Given the description of an element on the screen output the (x, y) to click on. 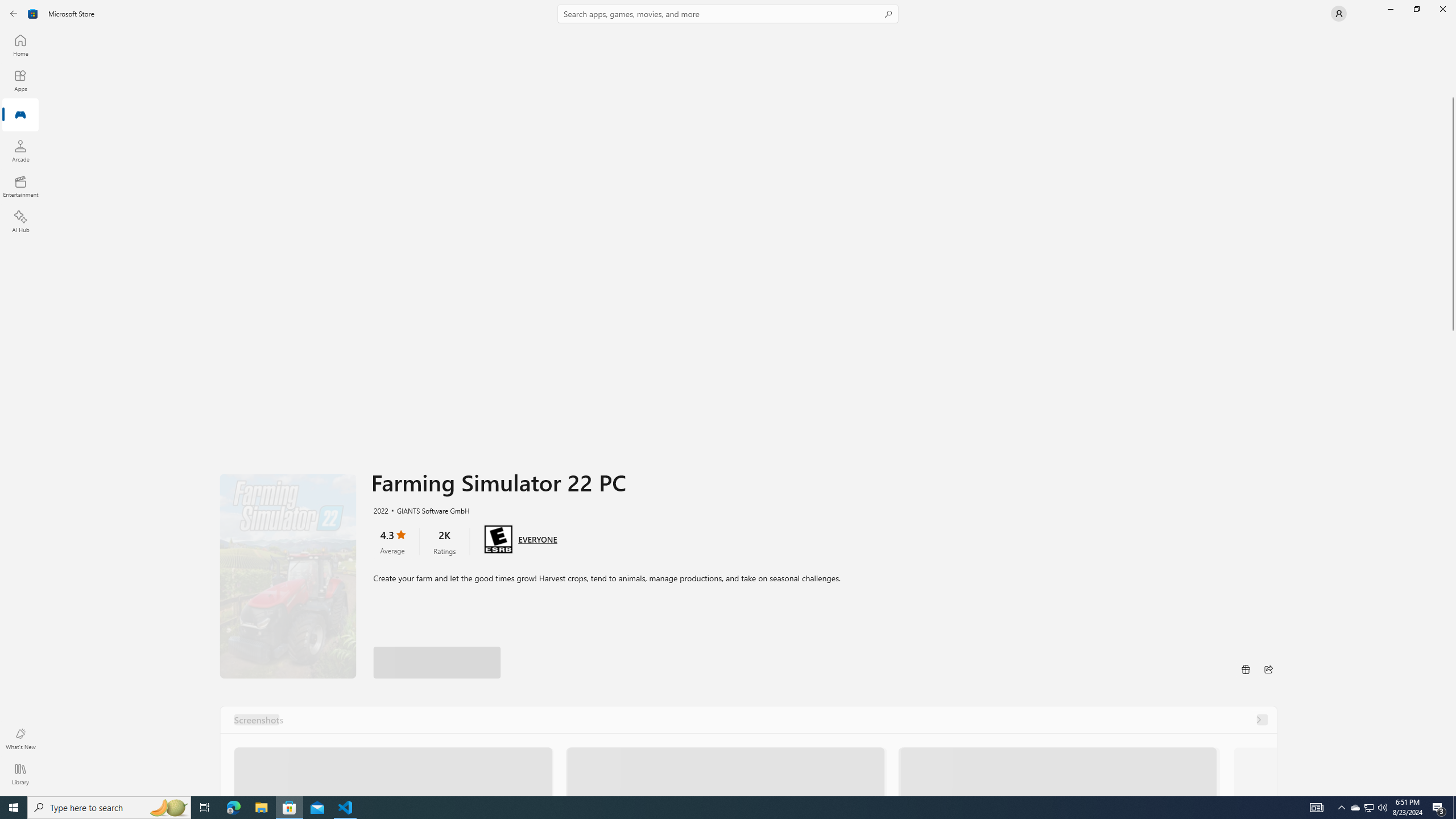
Vertical Large Increase (1452, 553)
Vertical Large Decrease (1452, 63)
Age rating: EVERYONE. Click for more information. (537, 538)
Play Trailer (287, 575)
4.3 stars. Click to skip to ratings and reviews (392, 541)
GIANTS Software GmbH (427, 510)
Open Xbox App (1207, 753)
Explore PC Game Pass (1207, 728)
Buy (568, 649)
Farming Simulator 22 PC, Edition selector (449, 610)
Search (727, 13)
